Given the description of an element on the screen output the (x, y) to click on. 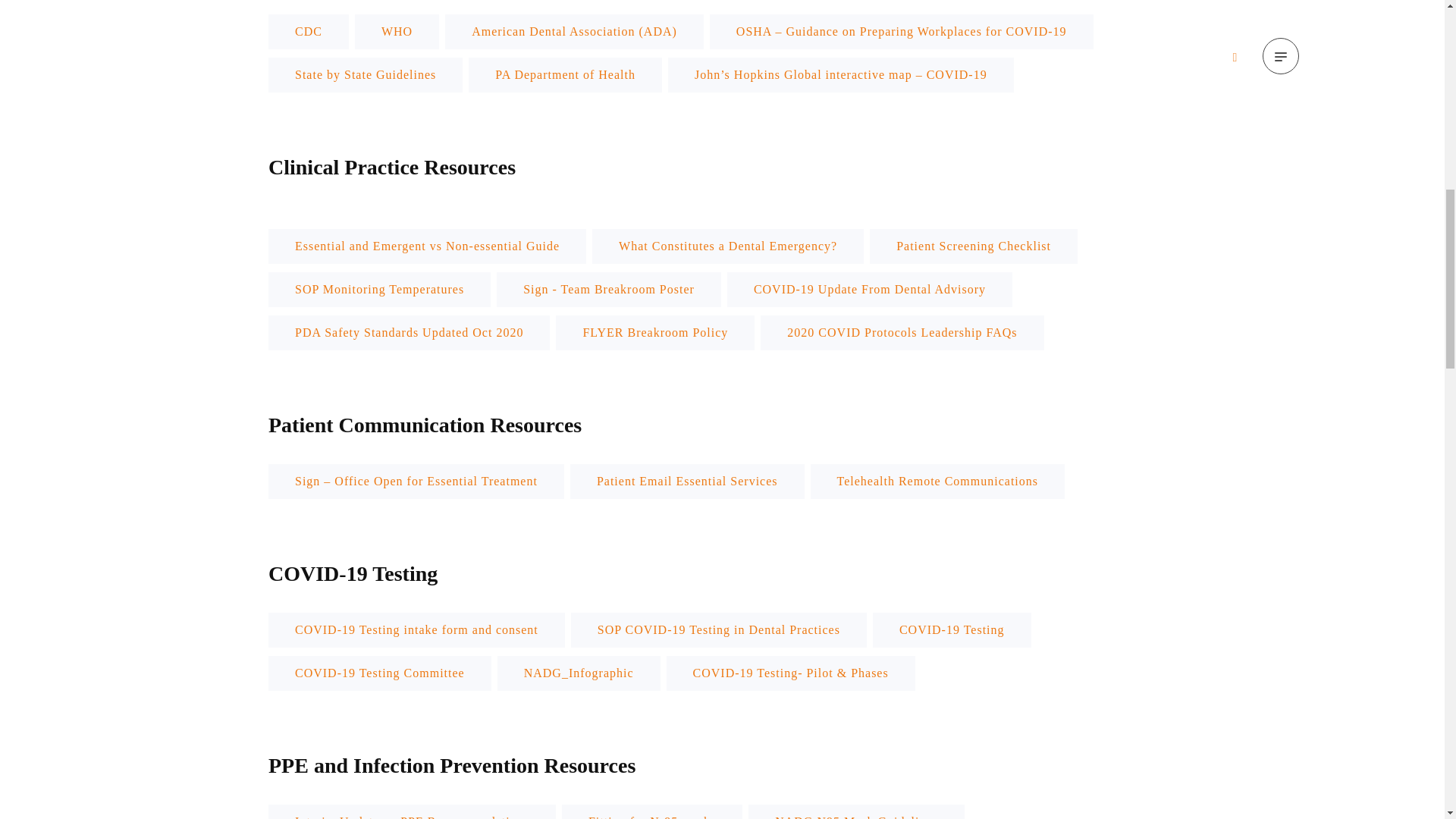
CDC (308, 30)
WHO (397, 30)
